Given the description of an element on the screen output the (x, y) to click on. 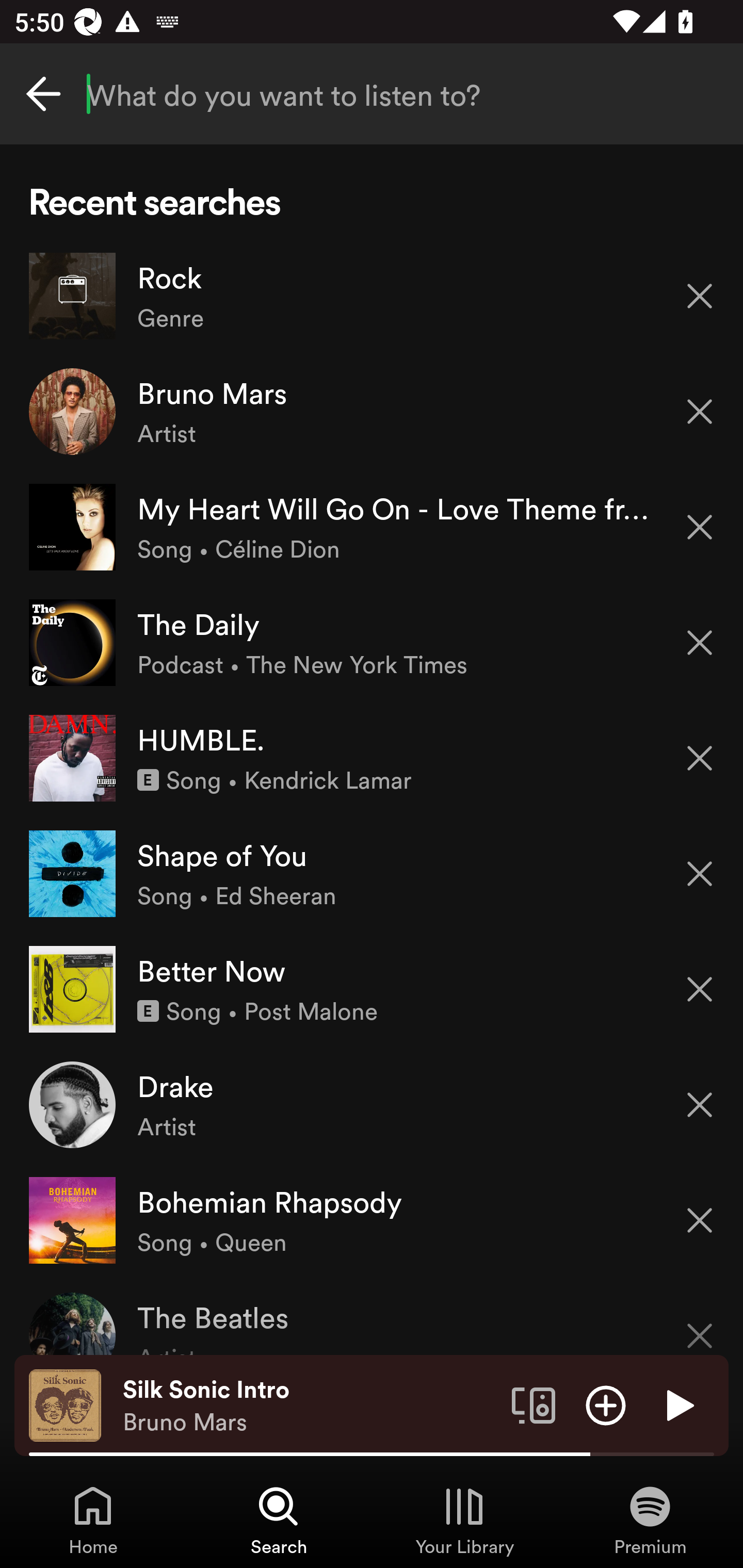
What do you want to listen to? (371, 93)
Cancel (43, 93)
Rock Genre Remove (371, 296)
Remove (699, 295)
Bruno Mars Artist Remove (371, 411)
Remove (699, 411)
Remove (699, 527)
The Daily Podcast • The New York Times Remove (371, 642)
Remove (699, 642)
HUMBLE. Explicit Song • Kendrick Lamar Remove (371, 757)
Remove (699, 758)
Shape of You Song • Ed Sheeran Remove (371, 873)
Remove (699, 874)
Better Now Explicit Song • Post Malone Remove (371, 989)
Remove (699, 989)
Drake Artist Remove (371, 1104)
Remove (699, 1104)
Bohemian Rhapsody Song • Queen Remove (371, 1219)
Remove (699, 1220)
The Beatles Artist Remove (371, 1315)
Remove (699, 1323)
Silk Sonic Intro Bruno Mars (309, 1405)
The cover art of the currently playing track (64, 1404)
Connect to a device. Opens the devices menu (533, 1404)
Add item (605, 1404)
Play (677, 1404)
Home, Tab 1 of 4 Home Home (92, 1519)
Search, Tab 2 of 4 Search Search (278, 1519)
Your Library, Tab 3 of 4 Your Library Your Library (464, 1519)
Premium, Tab 4 of 4 Premium Premium (650, 1519)
